Given the description of an element on the screen output the (x, y) to click on. 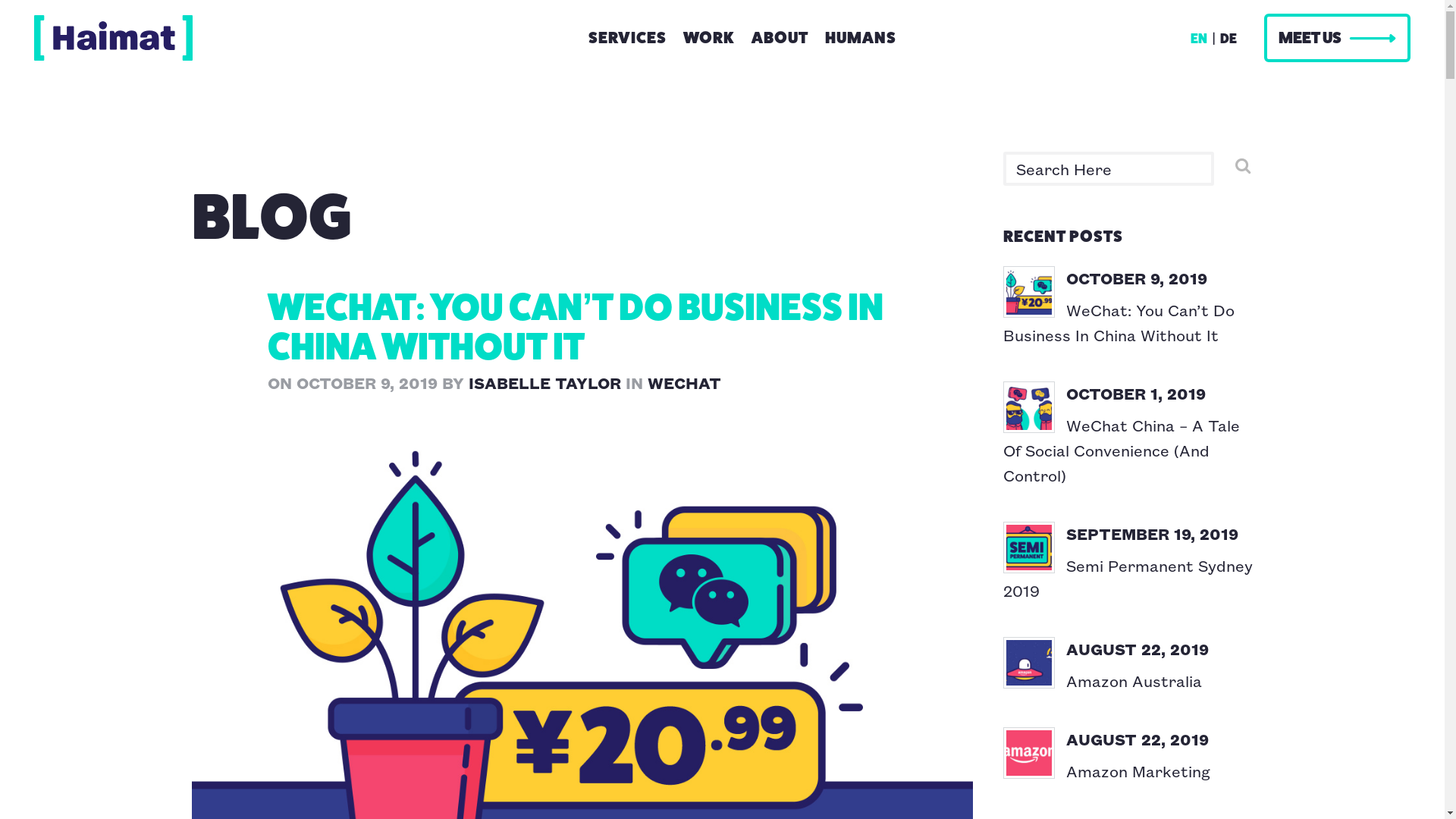
WECHAT Element type: text (684, 382)
DE Element type: text (1228, 38)
EN Element type: text (1198, 38)
WORK Element type: text (708, 26)
HUMANS Element type: text (860, 26)
ISABELLE TAYLOR Element type: text (544, 382)
SERVICES Element type: text (627, 26)
ABOUT Element type: text (778, 26)
Amazon Australia Element type: text (1133, 680)
MEET US Element type: text (1337, 37)
Semi Permanent Sydney 2019 Element type: text (1127, 577)
Amazon Marketing Element type: text (1138, 770)
